Given the description of an element on the screen output the (x, y) to click on. 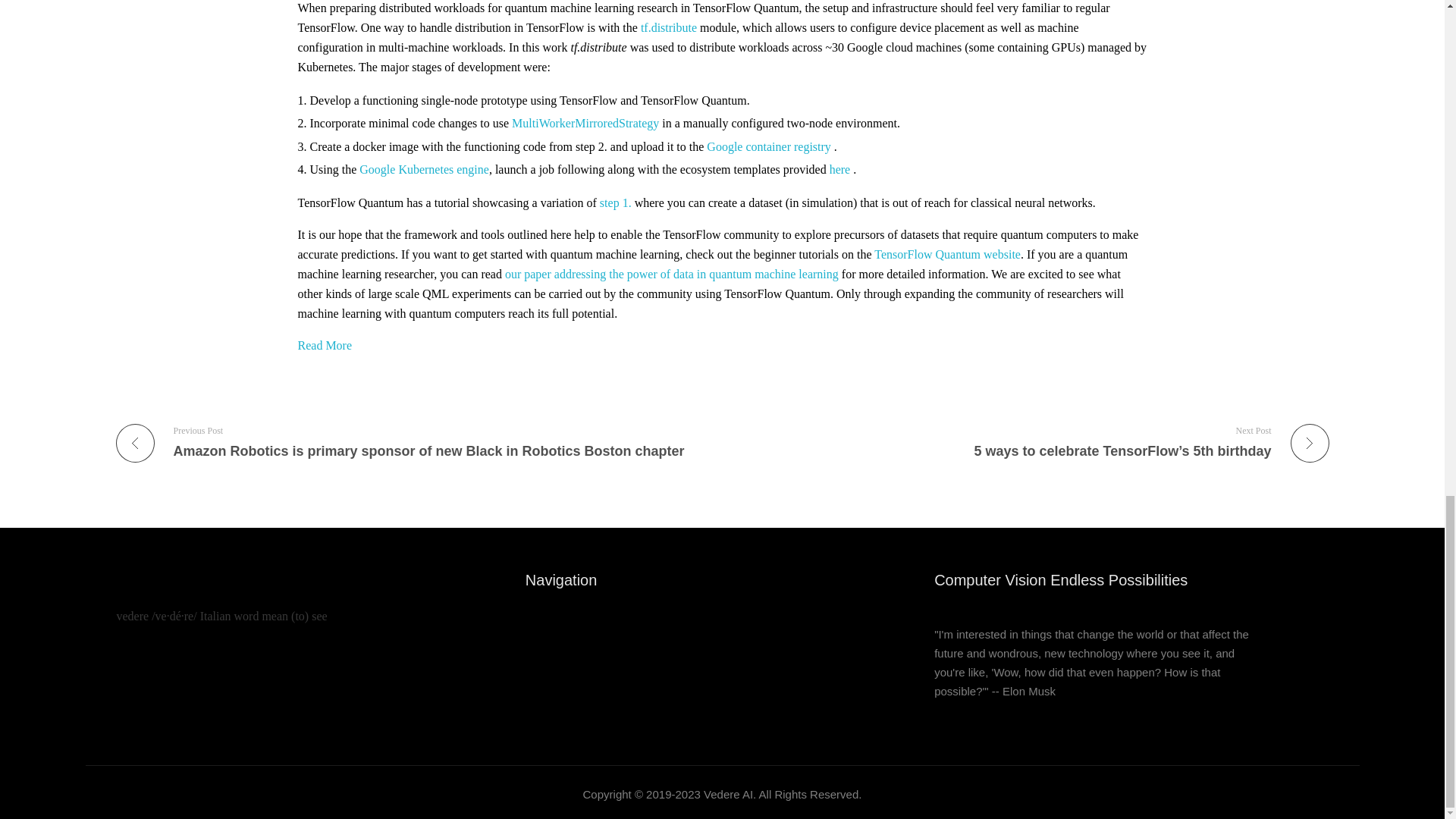
step 1. (615, 202)
tf.distribute (668, 27)
TensorFlow Quantum website (947, 254)
Google container registry (768, 146)
Read More (324, 345)
MultiWorkerMirroredStrategy (585, 123)
Google Kubernetes engine (424, 169)
here (839, 169)
